Given the description of an element on the screen output the (x, y) to click on. 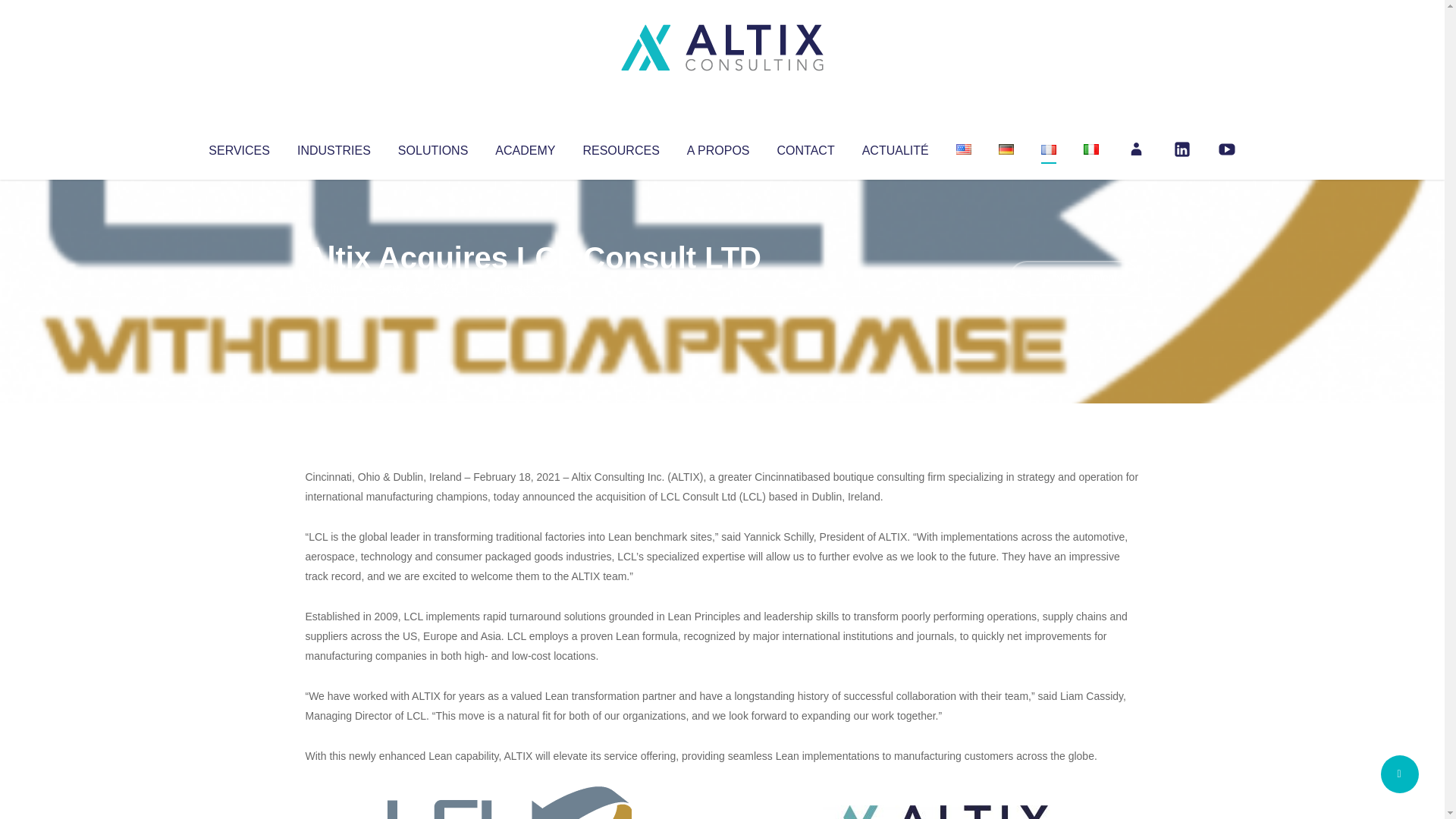
Articles par Altix (333, 287)
Uncategorized (530, 287)
SOLUTIONS (432, 146)
INDUSTRIES (334, 146)
RESOURCES (620, 146)
Altix (333, 287)
SERVICES (238, 146)
No Comments (1073, 278)
A PROPOS (718, 146)
ACADEMY (524, 146)
